Given the description of an element on the screen output the (x, y) to click on. 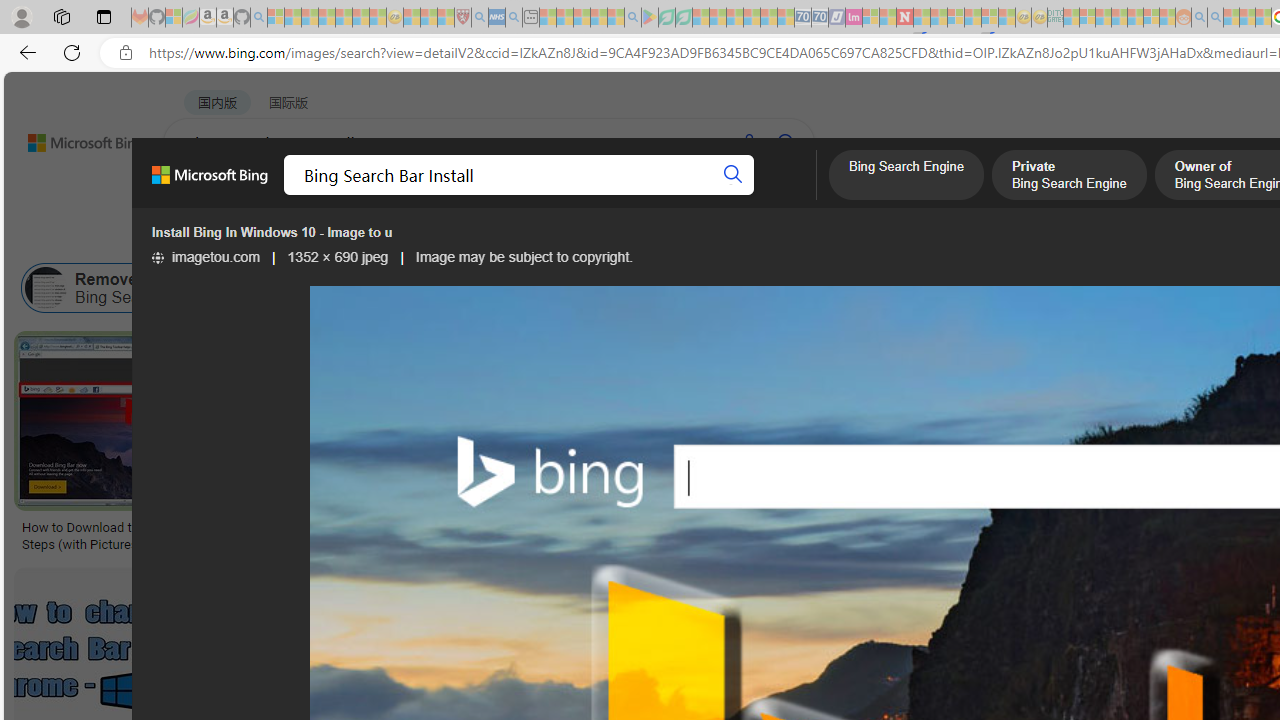
Search using voice (748, 142)
DICT (717, 195)
Date (591, 237)
DICT (717, 195)
WEB (201, 195)
Install Bing Search Engine (1033, 287)
WEB (201, 195)
